Given the description of an element on the screen output the (x, y) to click on. 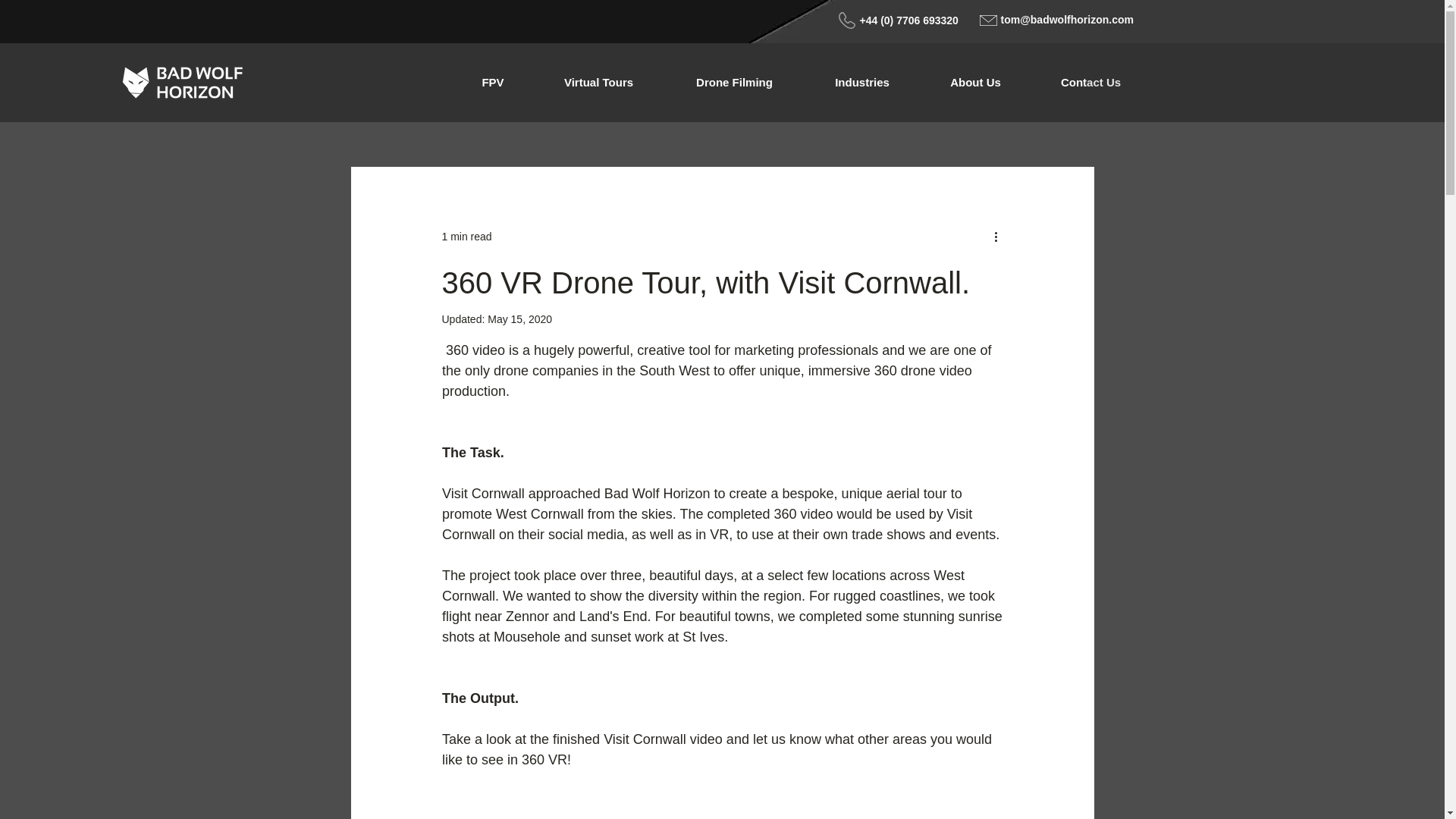
May 15, 2020 (519, 318)
Contact Us (1090, 82)
Drone Filming (734, 82)
Industries (861, 82)
Virtual Tours (598, 82)
1 min read (466, 236)
